Given the description of an element on the screen output the (x, y) to click on. 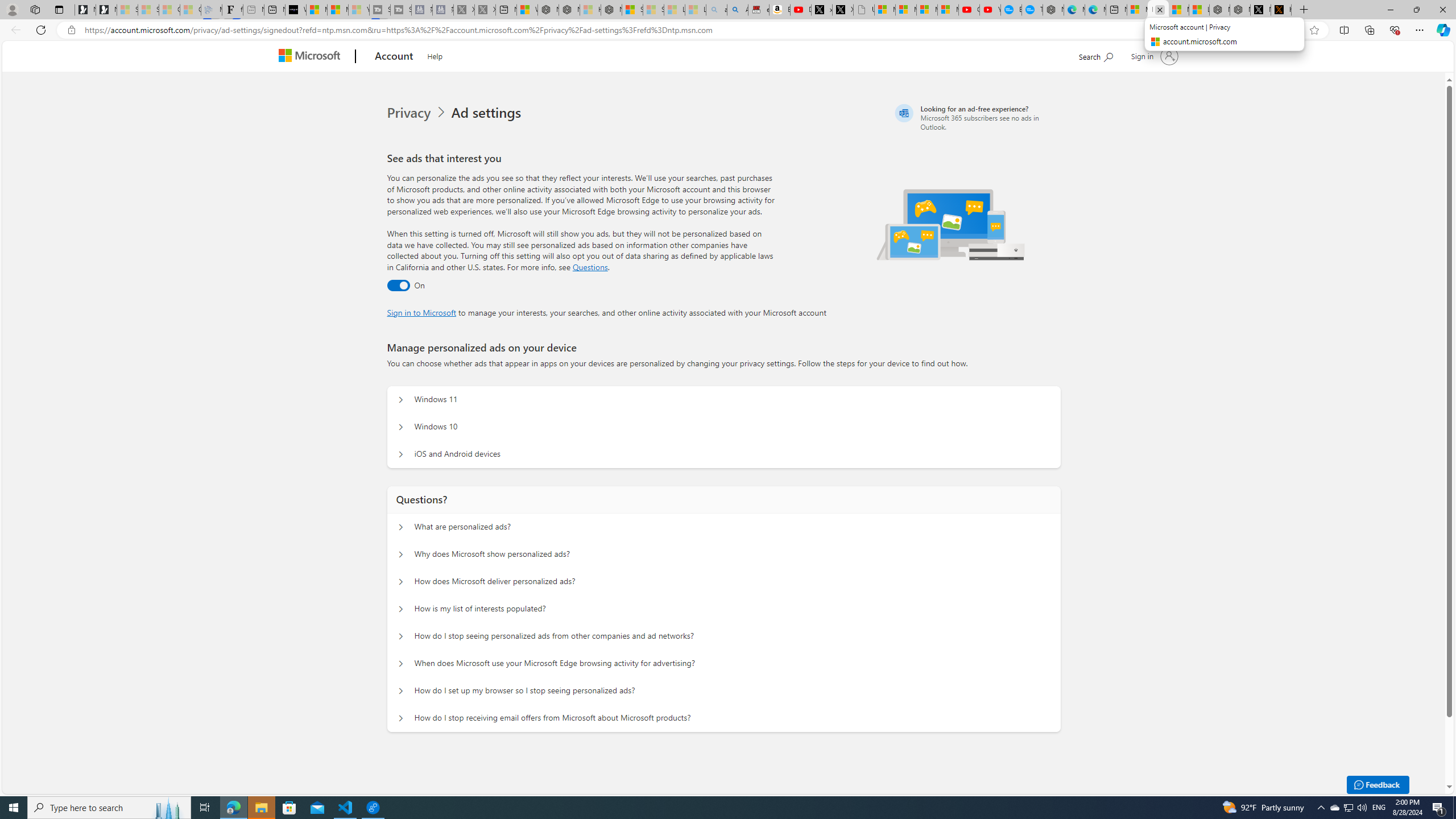
Illustration of multiple devices (951, 224)
Ad settings toggle (398, 285)
